Given the description of an element on the screen output the (x, y) to click on. 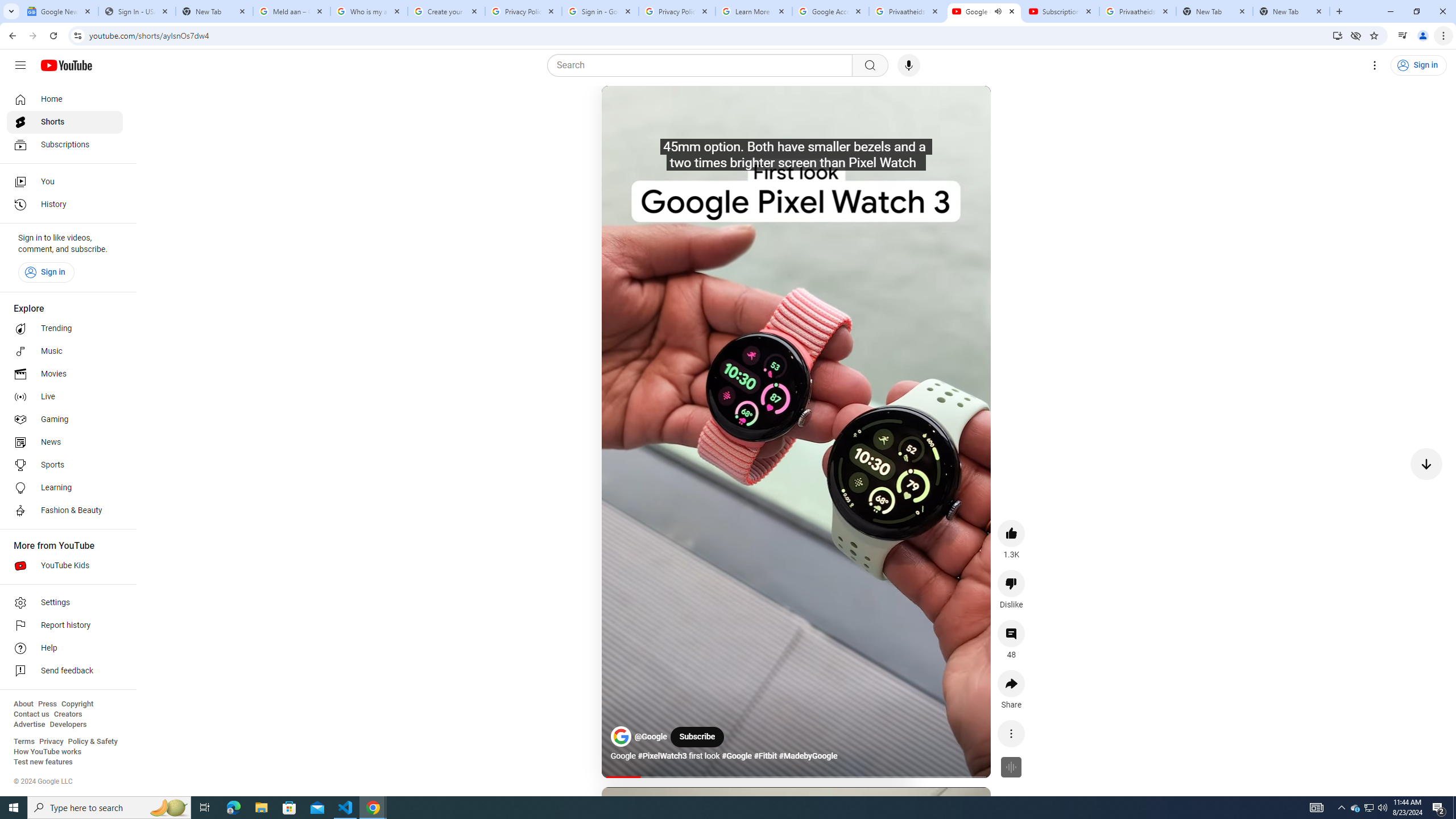
Create your Google Account (446, 11)
#Google (735, 756)
Test new features (42, 761)
YouTube Home (66, 65)
Shorts (64, 121)
#PixelWatch3 (662, 756)
New Tab (213, 11)
Google News (59, 11)
Mute (660, 108)
Fashion & Beauty (64, 510)
Feature not available for this video (1011, 767)
